Given the description of an element on the screen output the (x, y) to click on. 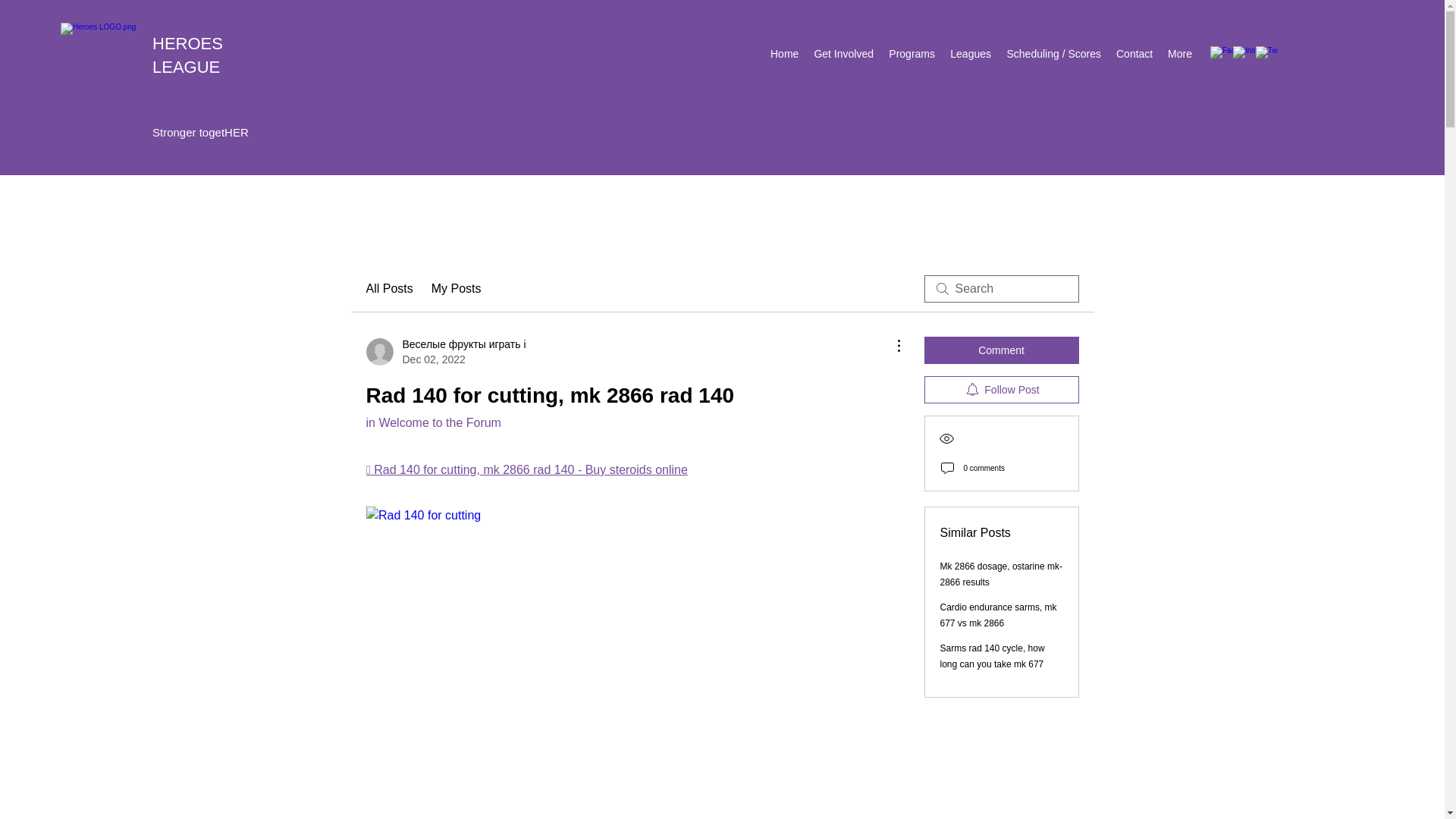
All Posts (388, 289)
Contact (1134, 53)
Cardio endurance sarms, mk 677 vs mk 2866 (998, 614)
Home (784, 53)
Sarms rad 140 cycle, how long can you take mk 677 (992, 655)
Leagues (970, 53)
My Posts (455, 289)
Programs (911, 53)
in Welcome to the Forum (432, 422)
Get Involved (843, 53)
